Given the description of an element on the screen output the (x, y) to click on. 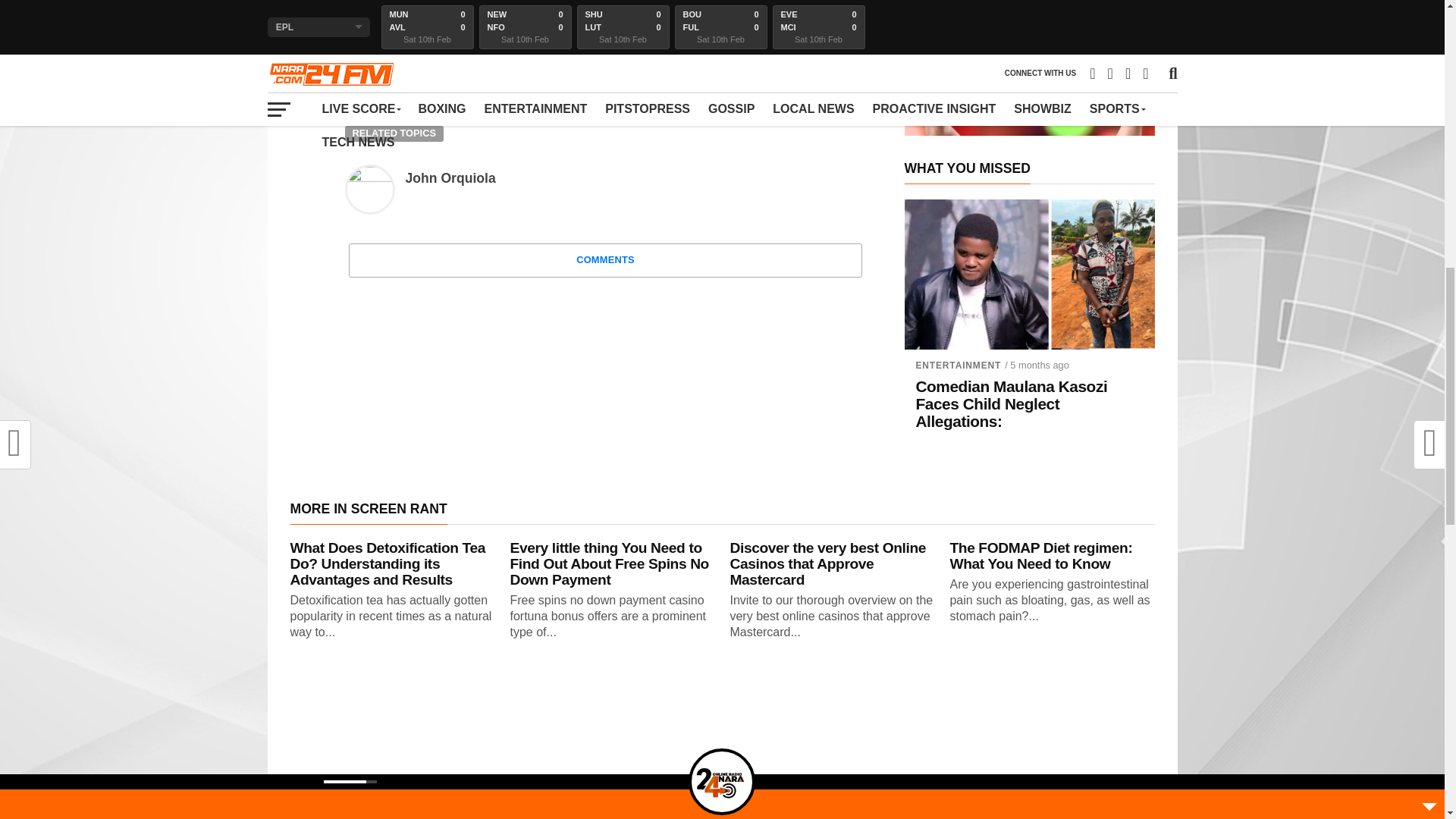
Posts by John Orquiola (449, 177)
